Given the description of an element on the screen output the (x, y) to click on. 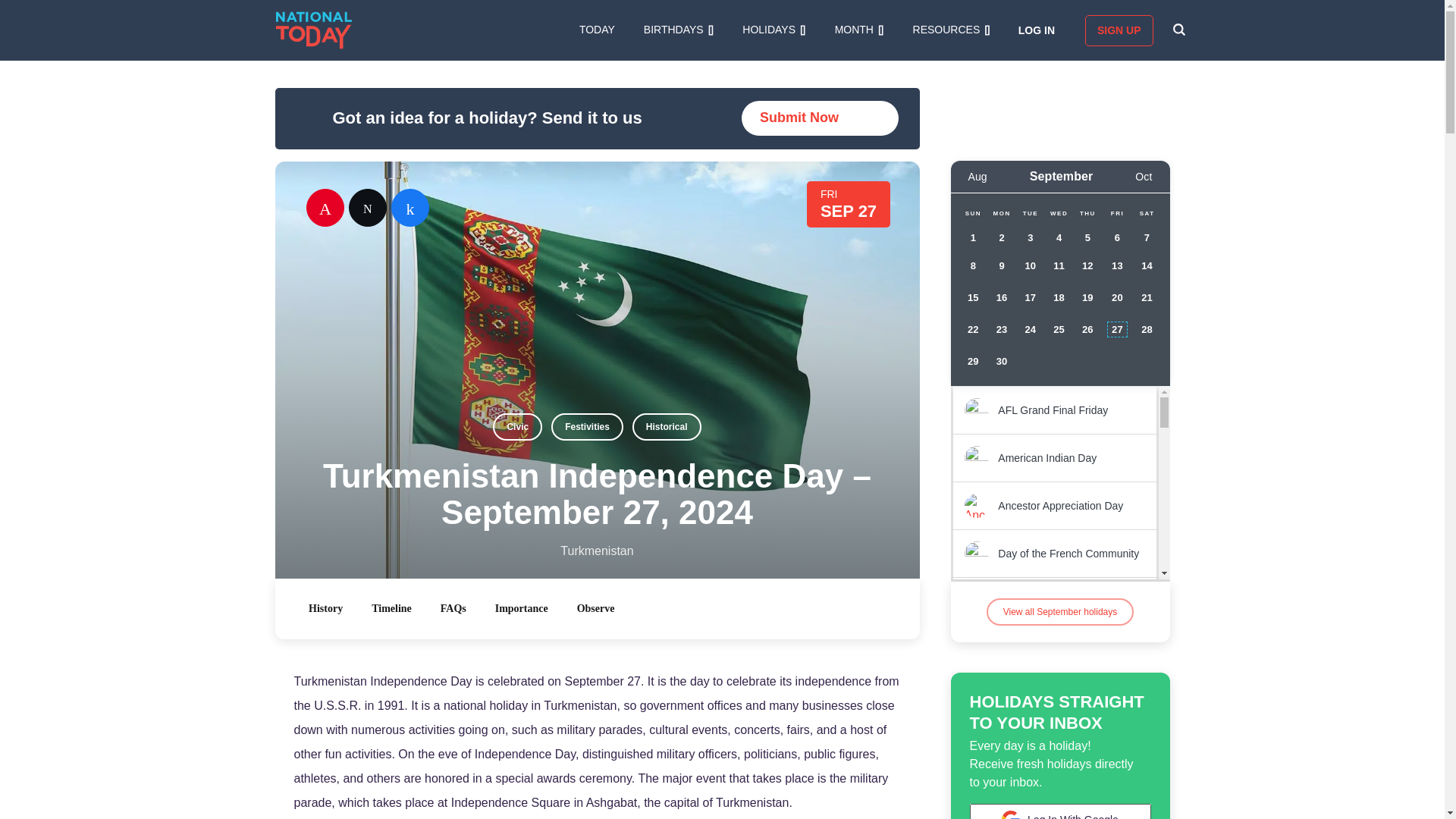
Wednesday (1059, 213)
Sunday (973, 213)
HOLIDAYS (773, 29)
TODAY (596, 29)
Saturday (1147, 213)
Thursday (1087, 213)
National Today (314, 30)
Friday (1116, 213)
SEARCH (1178, 29)
BIRTHDAYS (678, 29)
